Given the description of an element on the screen output the (x, y) to click on. 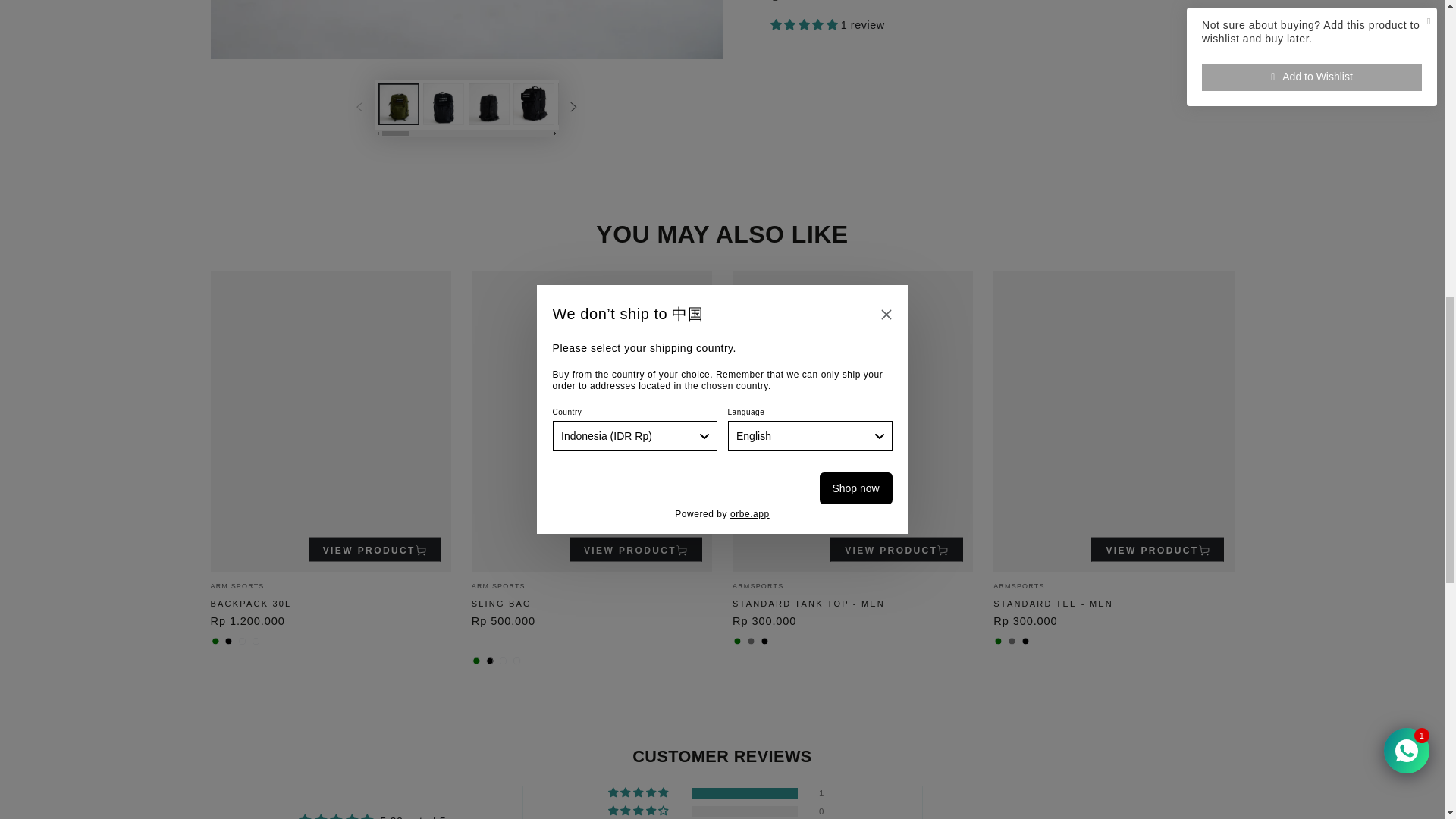
Green (997, 641)
Green (737, 641)
Desert Camo (242, 641)
Desert (255, 641)
Black (228, 641)
Black (1025, 641)
Gray (1011, 641)
Desert Camo (503, 660)
Gray (750, 641)
Green (476, 660)
Black (489, 660)
Black (765, 641)
Green (216, 641)
Desert (517, 660)
